Given the description of an element on the screen output the (x, y) to click on. 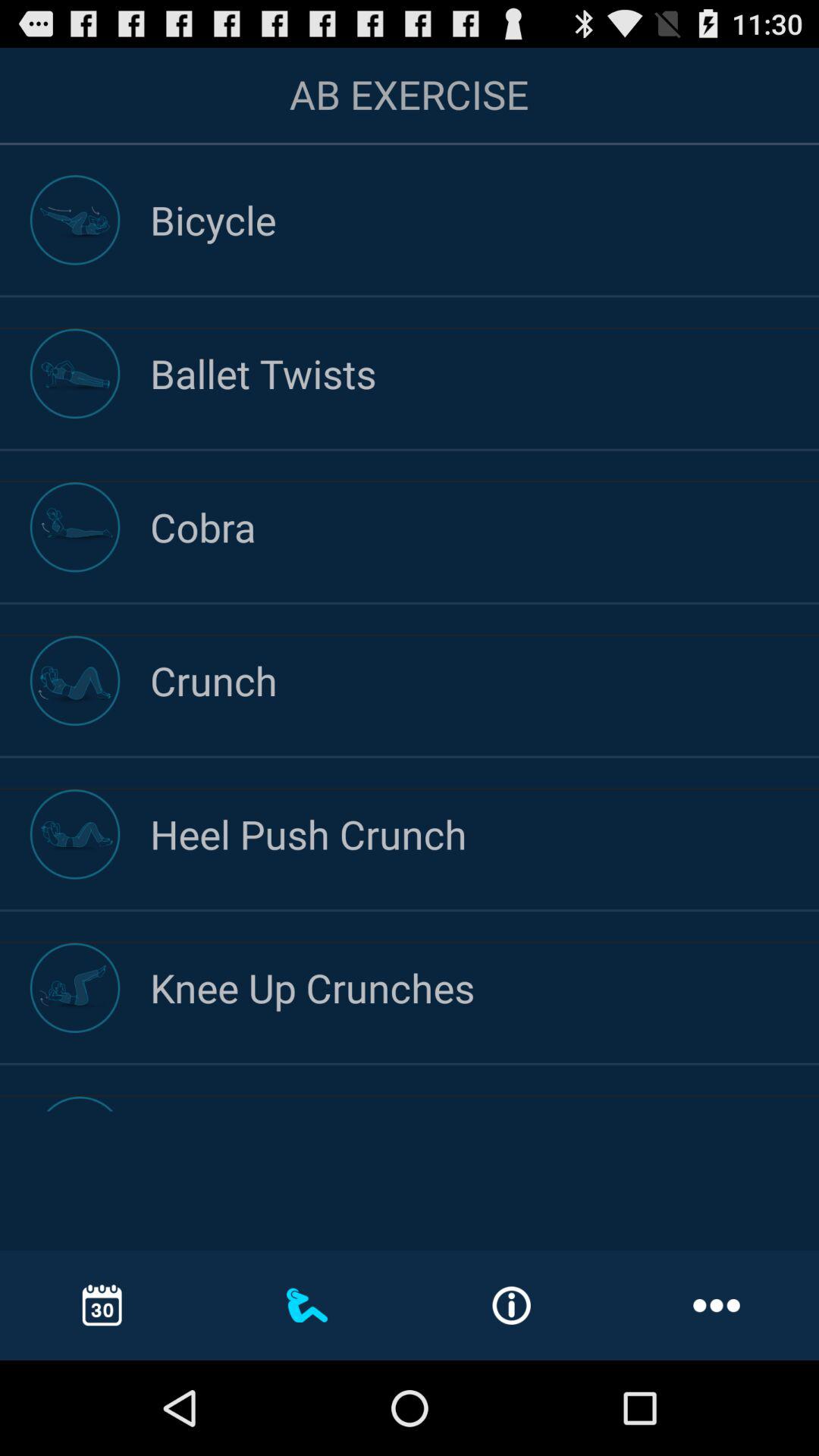
click the bicycle icon (484, 219)
